Given the description of an element on the screen output the (x, y) to click on. 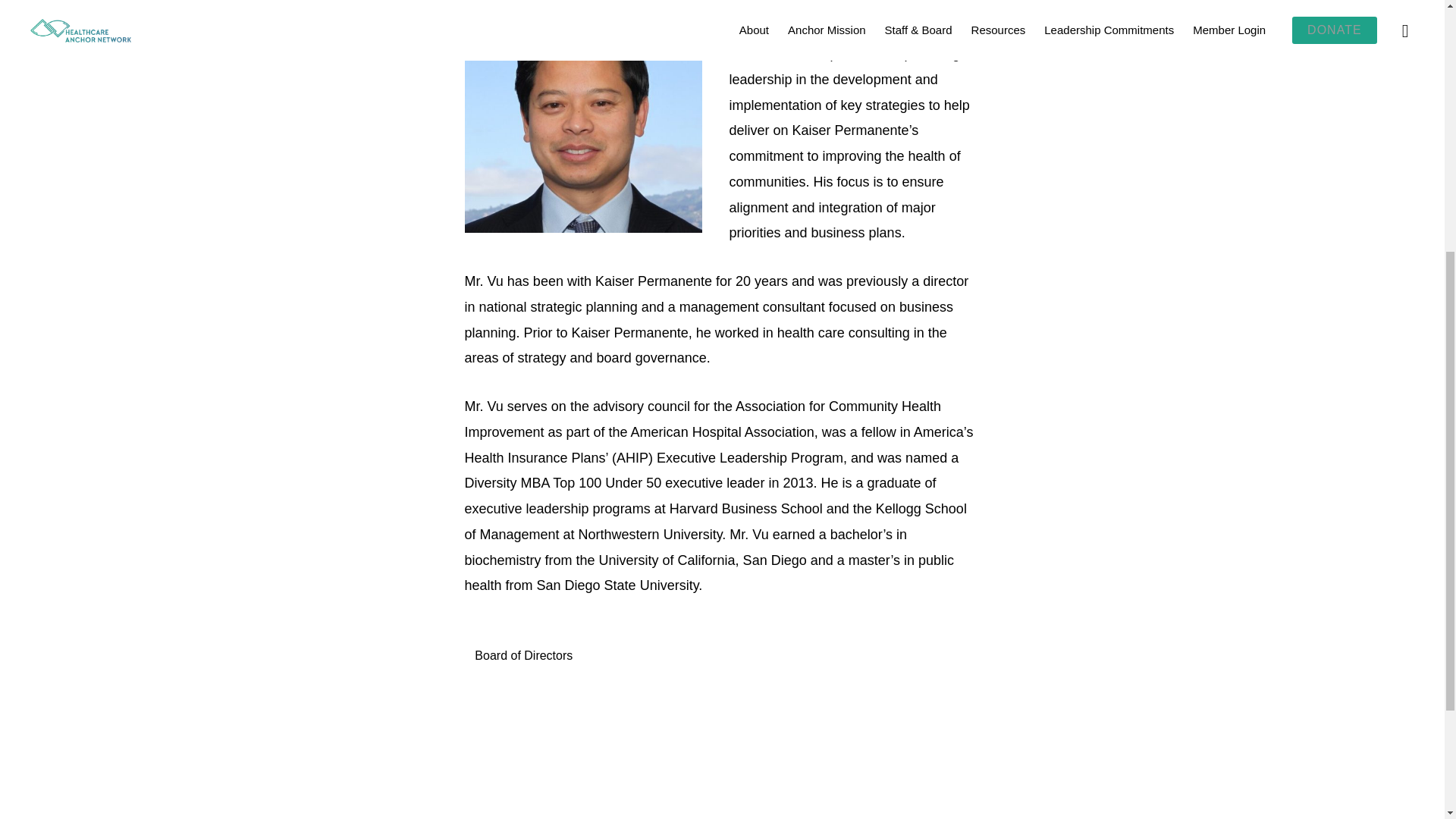
Visit the Healthcare Anchor Network on LinkedIn (706, 276)
SIGN UP FOR NEWSLETTER (1003, 347)
Visit the Healthcare Anchor Network on Facebook (672, 276)
Follow the Healthcare Anchor Network on Twitter (738, 276)
Board of Directors (523, 655)
Visit the Healthcare Anchor Network Youtube channel (771, 276)
PRIVACY POLICY (874, 347)
Contact the Healthcare Anchor Network (721, 305)
JOIN THE HEALTHCARE ANCHOR NETWORK (483, 347)
MEMBERS-ONLY PLATFORM (678, 347)
